Given the description of an element on the screen output the (x, y) to click on. 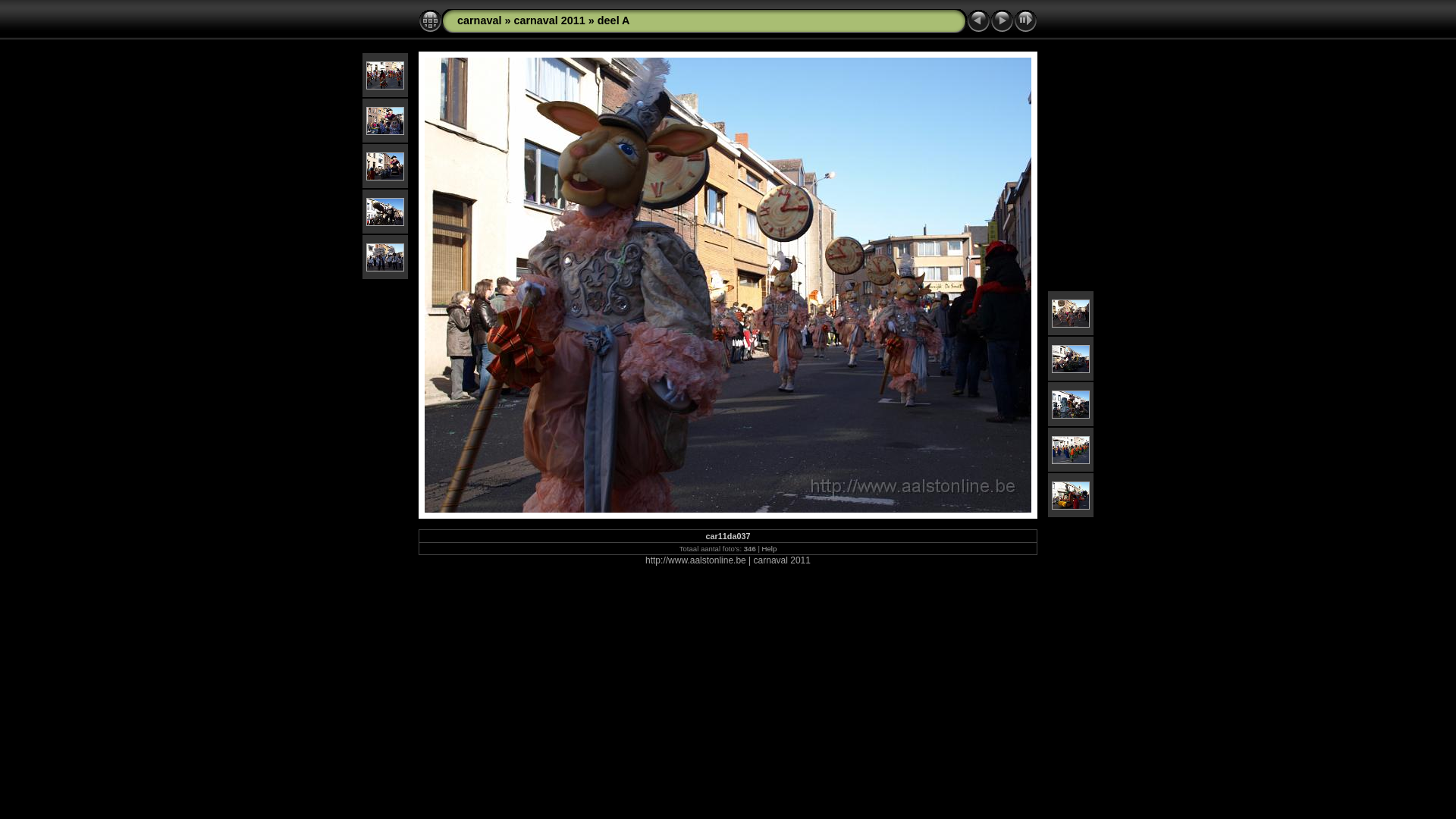
 car11da040.JPG  Element type: hover (1070, 312)
deel A Element type: text (613, 20)
 car11da035.JPG  Element type: hover (385, 256)
Help Element type: text (769, 548)
carnaval 2011 Element type: text (548, 20)
 car11da042.JPG  Element type: hover (1070, 358)
 car11da043.JPG  Element type: hover (1070, 403)
 car11da032.JPG  Element type: hover (385, 165)
 car11da049.JPG  Element type: hover (1070, 494)
 car11da033.JPG  Element type: hover (385, 211)
 car11da048.JPG  Element type: hover (1070, 449)
 car11da028.JPG  Element type: hover (385, 74)
 Volgende foto  Element type: hover (1001, 20)
carnaval Element type: text (479, 20)
 Inhoudspagina  Element type: hover (430, 20)
 Vorige foto  Element type: hover (978, 20)
 car11da030.JPG  Element type: hover (385, 120)
